Given the description of an element on the screen output the (x, y) to click on. 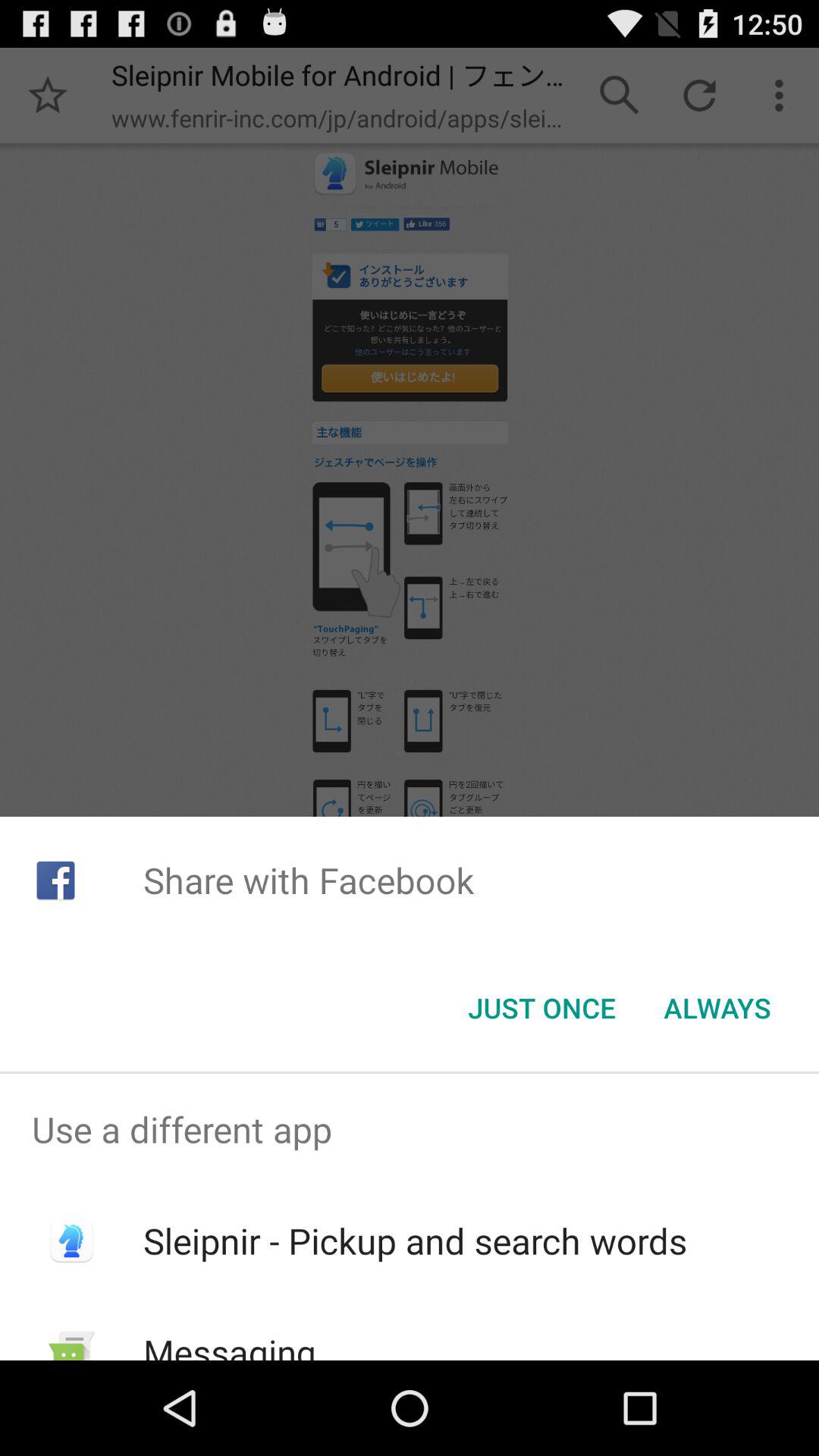
press the messaging item (229, 1344)
